Given the description of an element on the screen output the (x, y) to click on. 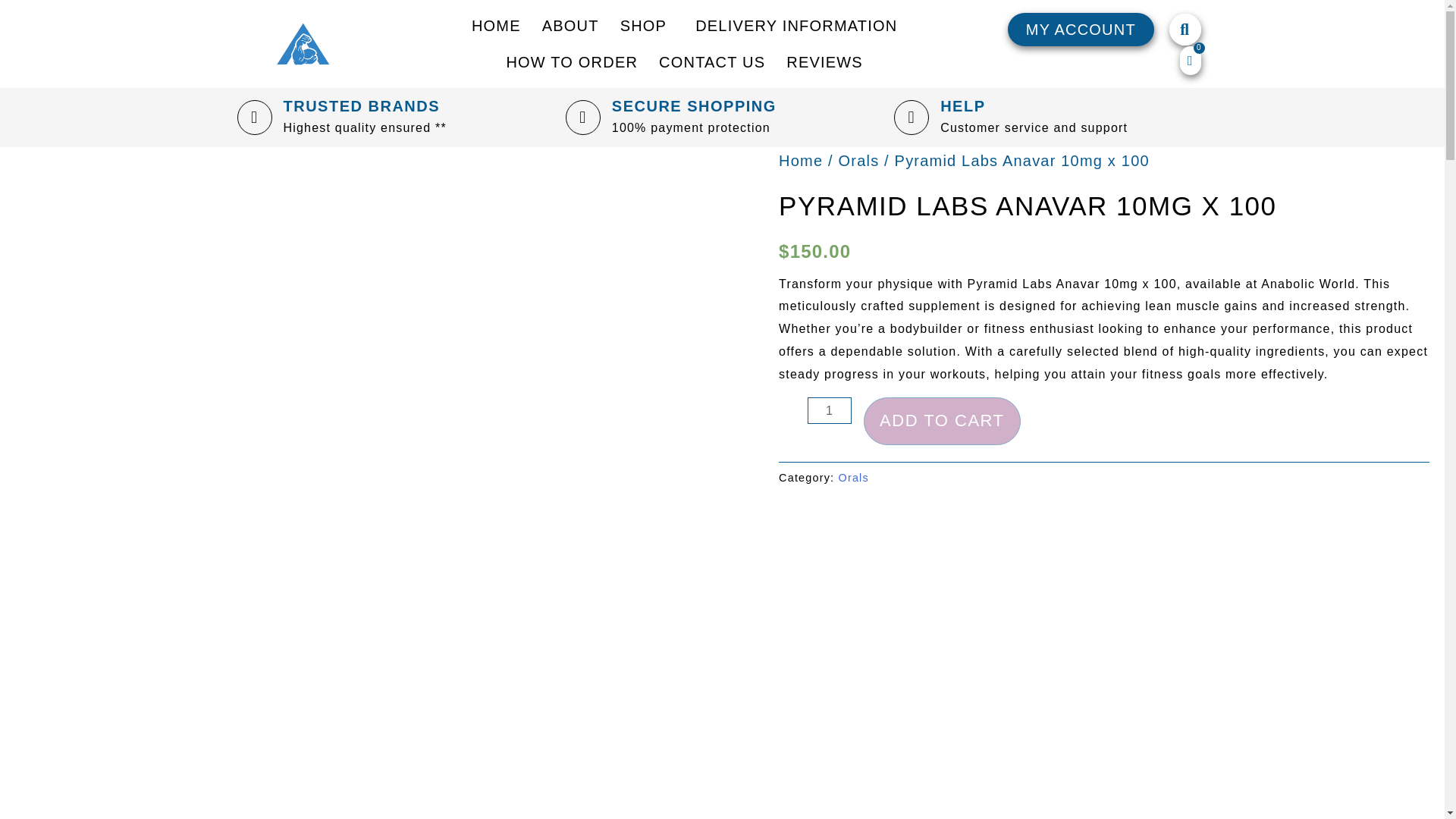
Orals (858, 160)
DELIVERY INFORMATION (795, 25)
1 (829, 410)
HOME (496, 25)
HOW TO ORDER (571, 62)
ABOUT (570, 25)
Orals (853, 477)
MY ACCOUNT (1080, 29)
SHOP (647, 25)
CONTACT US (711, 62)
Home (800, 160)
ADD TO CART (941, 421)
REVIEWS (824, 62)
